Given the description of an element on the screen output the (x, y) to click on. 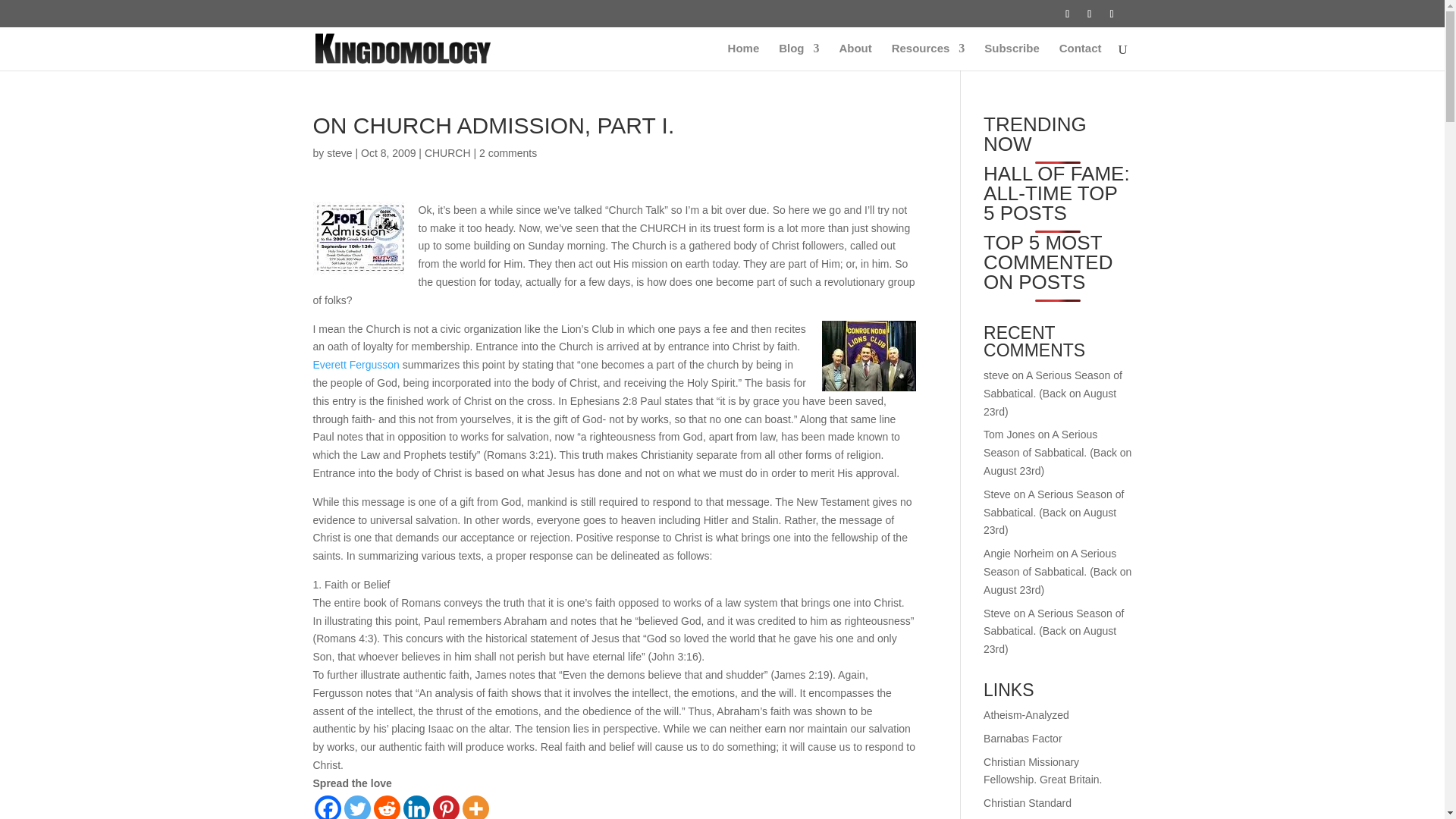
Linkedin (416, 806)
Twitter (357, 806)
Reddit (385, 806)
About (854, 56)
Pinterest (445, 806)
Facebook (327, 806)
More (476, 806)
Blog (798, 56)
Resources (928, 56)
Home (744, 56)
Subscribe (1011, 56)
Contact (1080, 56)
Posts by steve (339, 152)
